Given the description of an element on the screen output the (x, y) to click on. 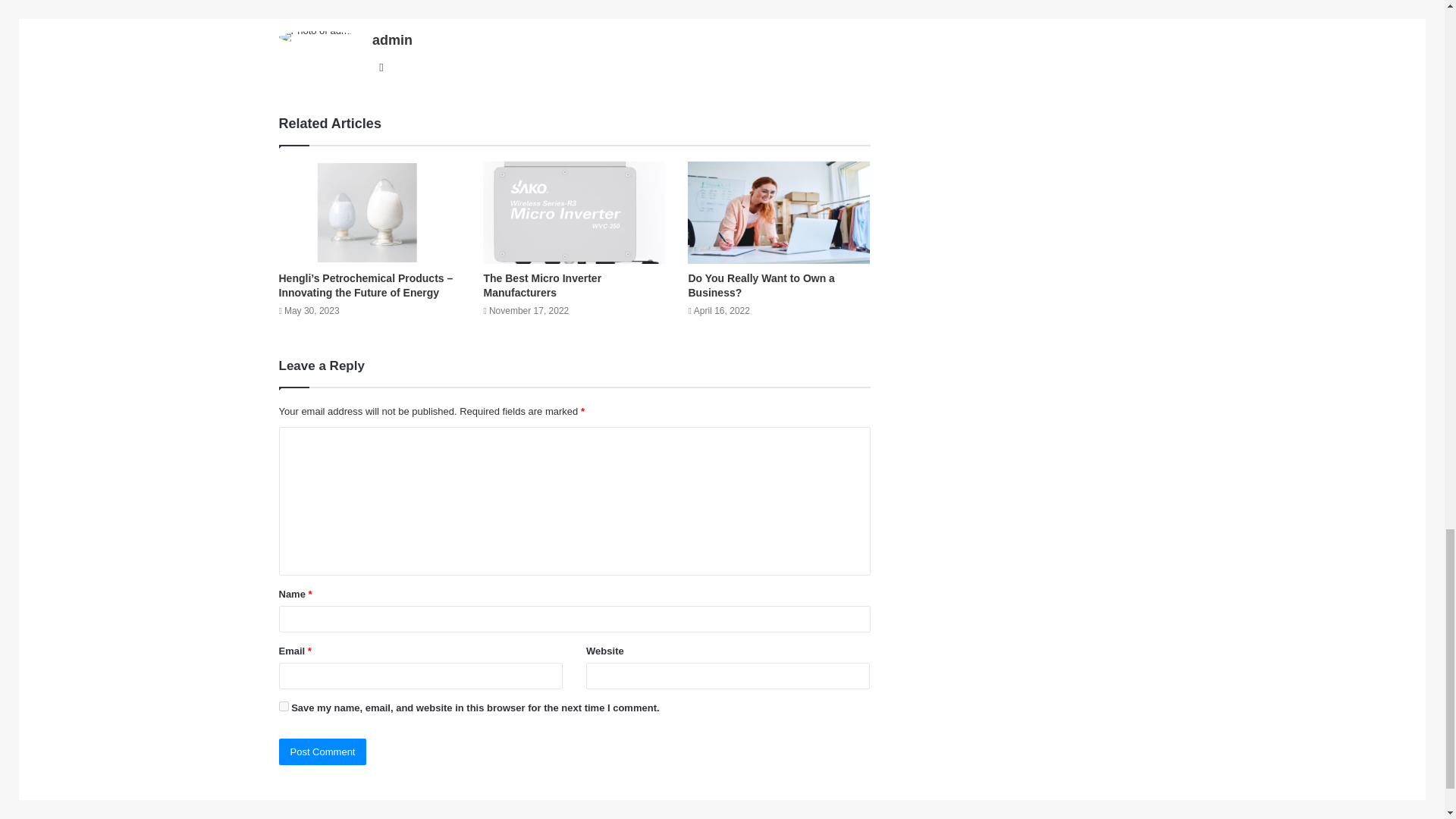
Website (381, 67)
yes (283, 706)
admin (392, 39)
The Best Micro Inverter Manufacturers (542, 284)
Post Comment (322, 751)
